Given the description of an element on the screen output the (x, y) to click on. 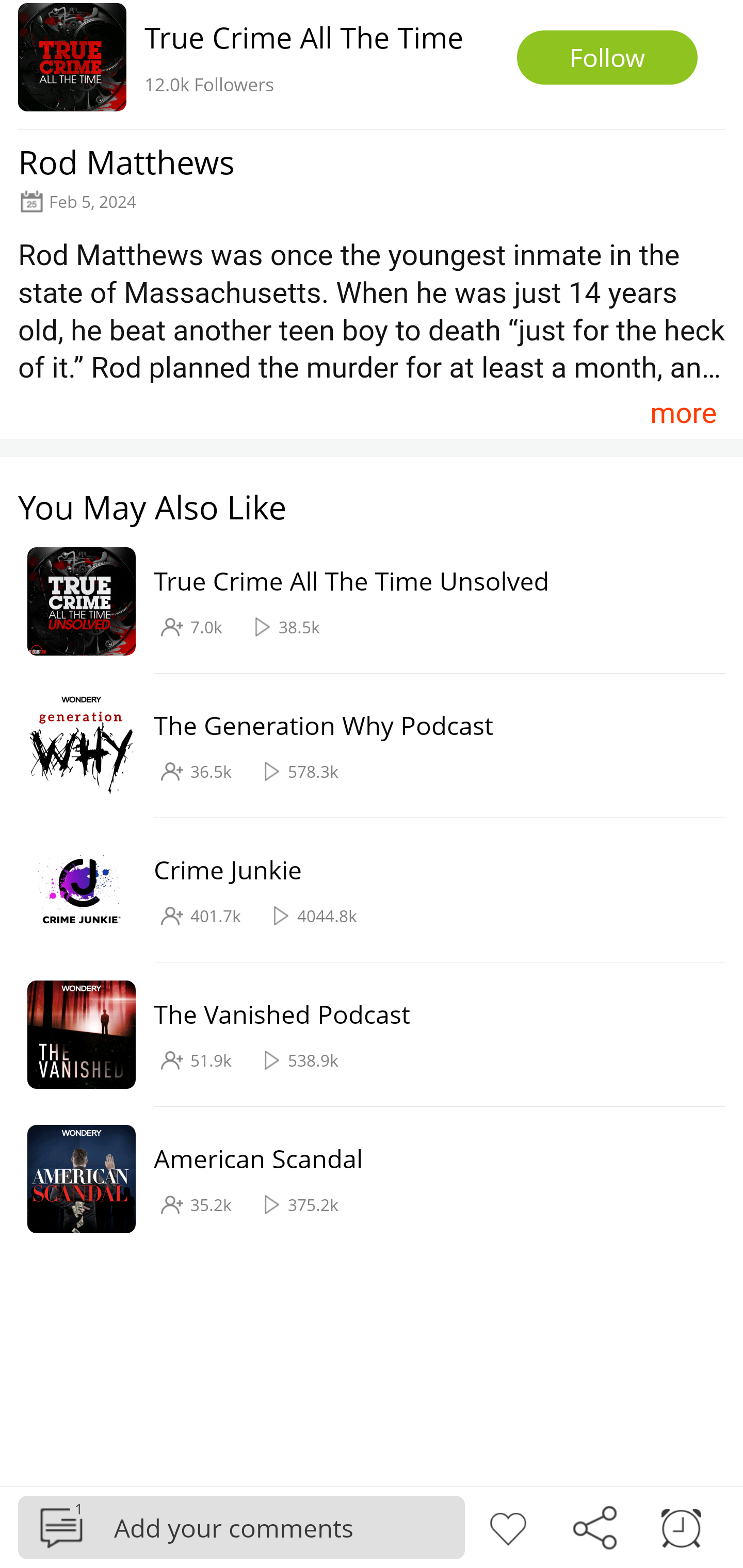
True Crime All The Time 12.0k Followers Follow (371, 65)
Follow (607, 56)
more (682, 412)
True Crime All The Time Unsolved 7.0k 38.5k (362, 601)
The Generation Why Podcast 36.5k 578.3k (362, 746)
Crime Junkie 401.7k 4044.8k (362, 890)
The Vanished Podcast 51.9k 538.9k (362, 1034)
American Scandal 35.2k 375.2k (362, 1179)
Like (508, 1526)
Share (594, 1526)
Sleep timer (681, 1526)
Podbean 1 Add your comments (241, 1526)
